Given the description of an element on the screen output the (x, y) to click on. 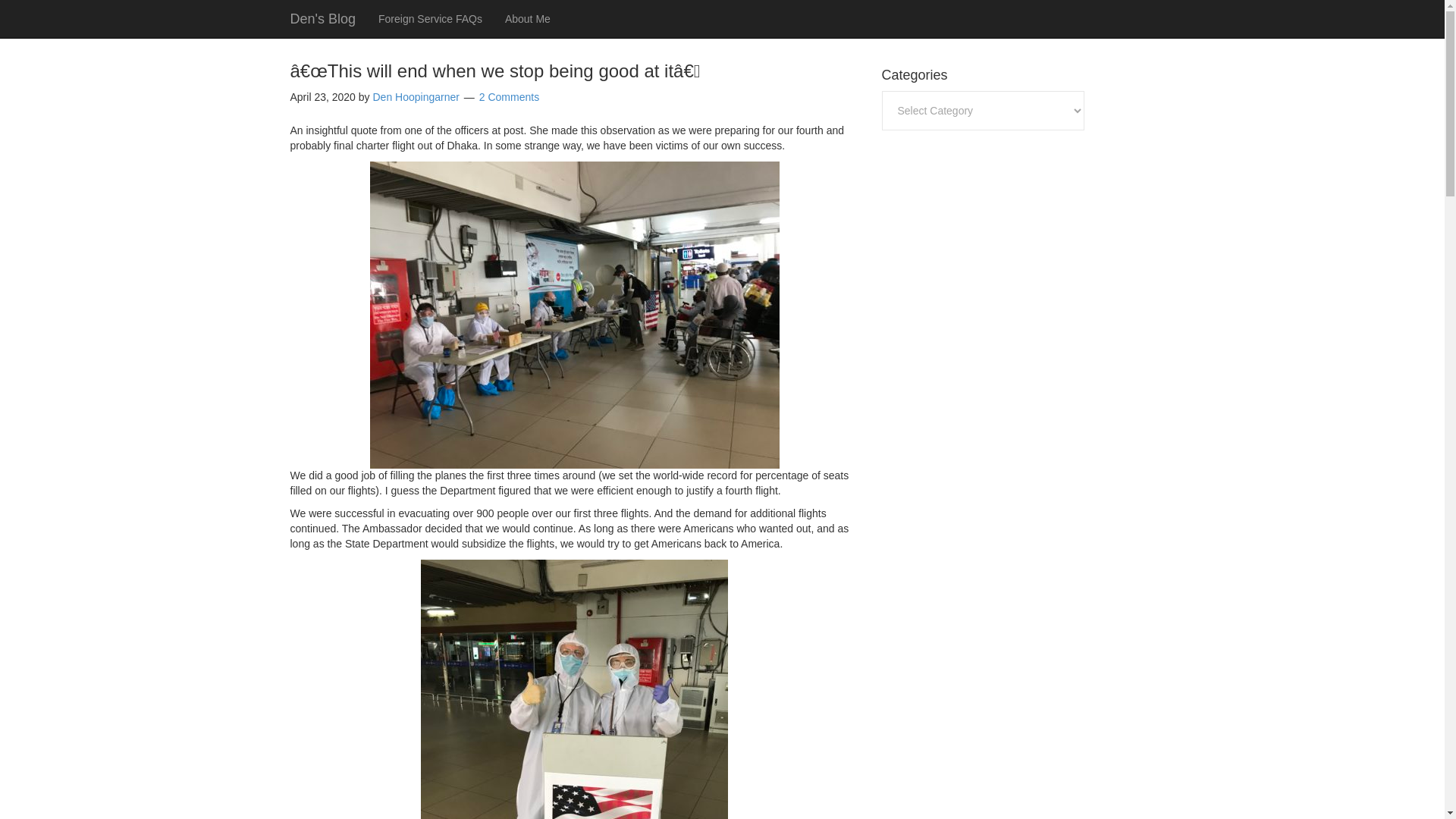
Posts by Den Hoopingarner (415, 96)
About Me (527, 18)
Den's Blog (322, 18)
Foreign Service FAQs (429, 18)
Foreign Service FAQs (429, 18)
Thursday, April 23, 2020, 7:15 am (322, 96)
About Me (527, 18)
Den's Blog (322, 18)
Den Hoopingarner (415, 96)
2 Comments (508, 96)
